Given the description of an element on the screen output the (x, y) to click on. 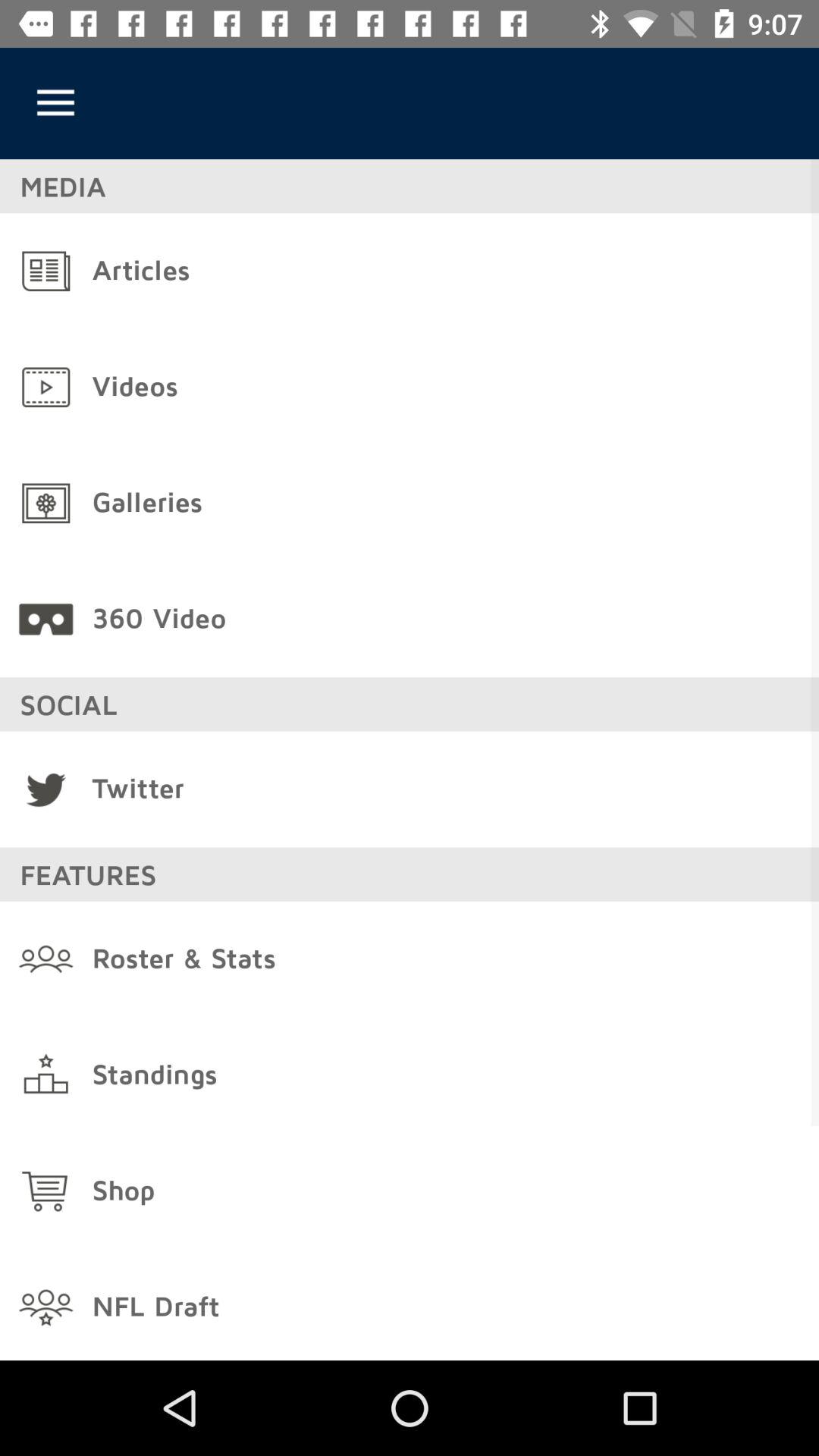
choose the item above media item (55, 103)
